Given the description of an element on the screen output the (x, y) to click on. 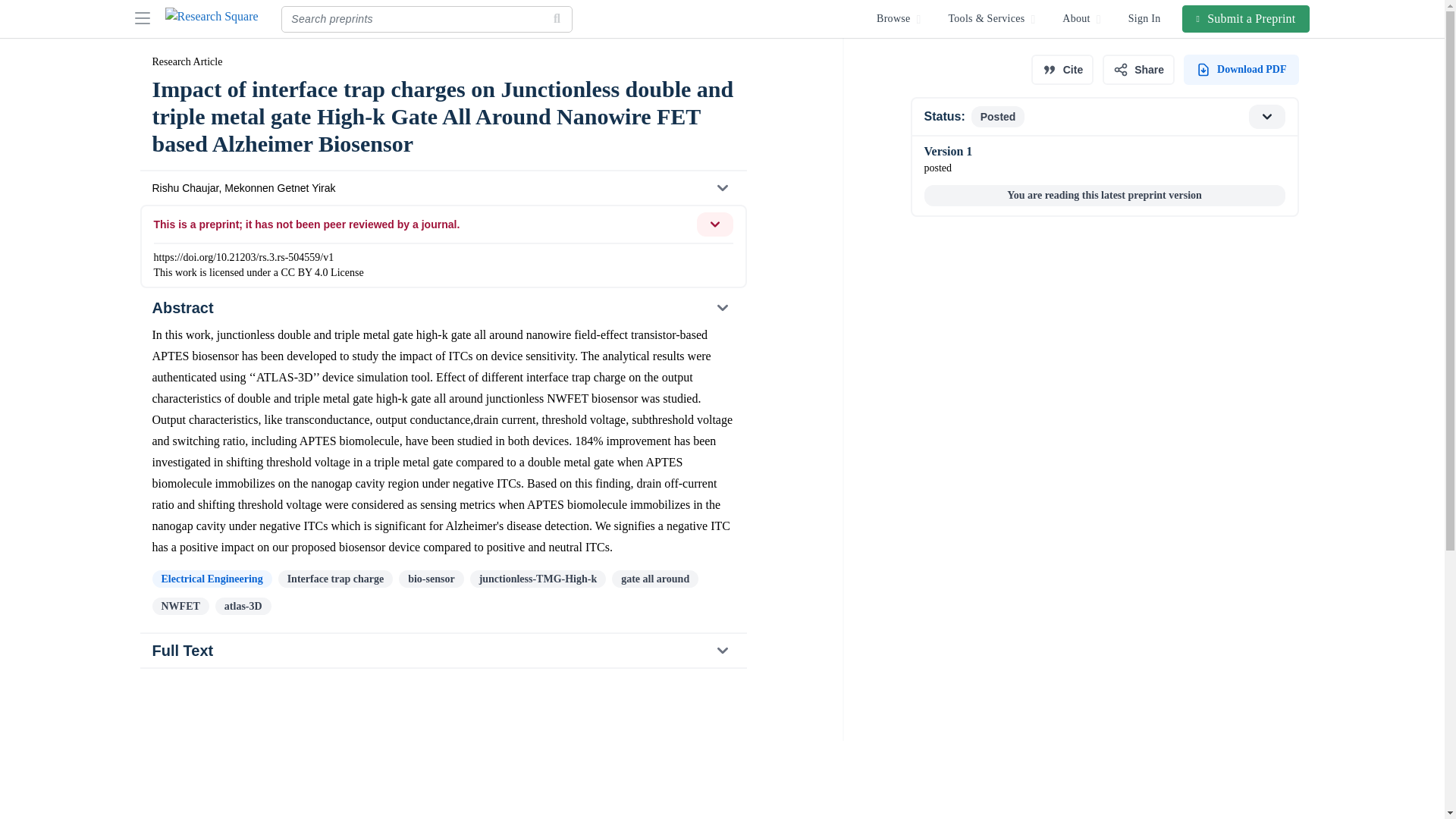
PDF (1240, 69)
Share (1138, 69)
Full Text (442, 650)
Rishu Chaujar, Mekonnen Getnet Yirak (442, 187)
Abstract (442, 307)
Sign In (1144, 18)
Cite (1061, 69)
Electrical Engineering (1103, 116)
